Given the description of an element on the screen output the (x, y) to click on. 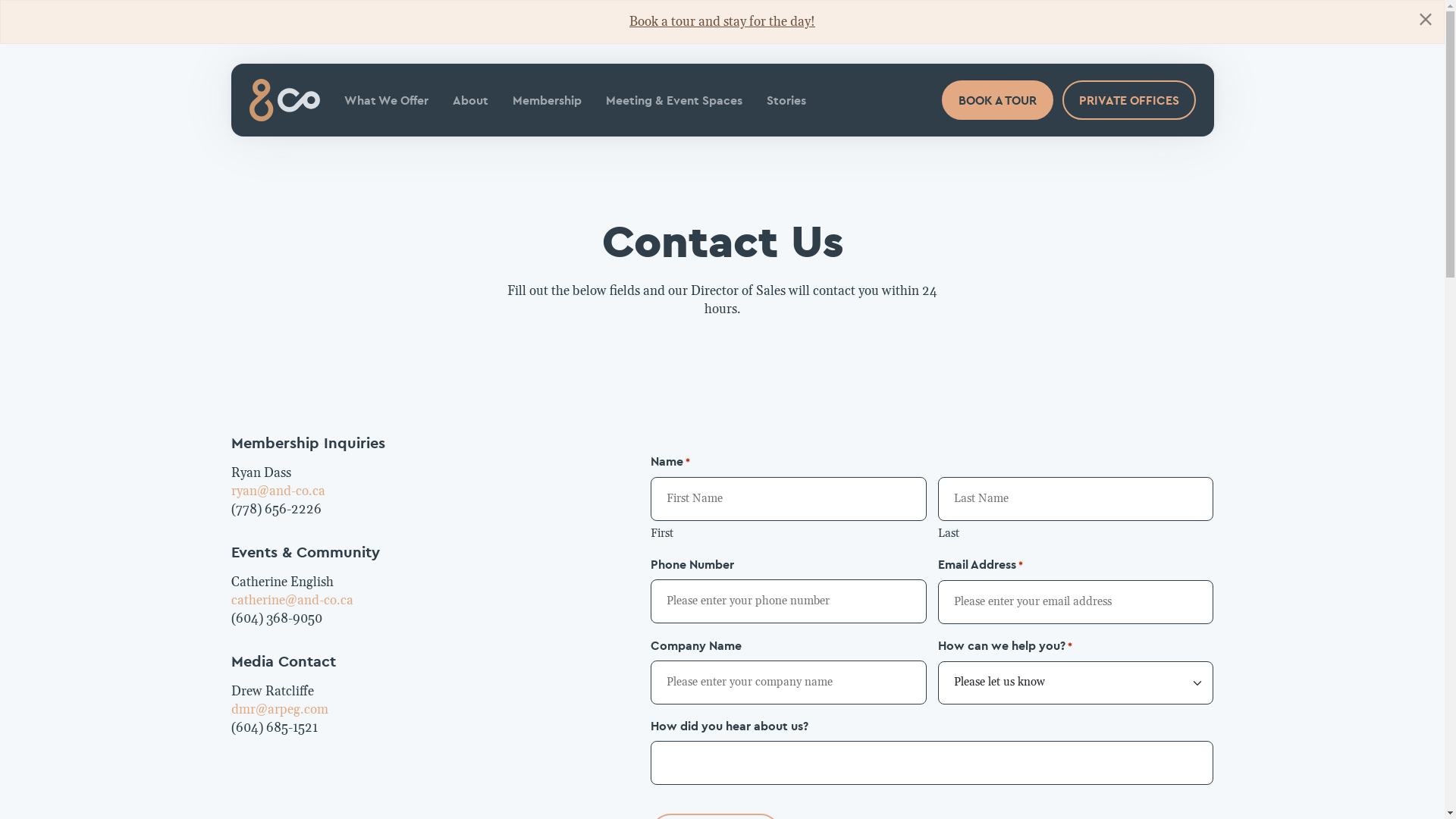
Stories Element type: text (786, 99)
About Element type: text (470, 99)
Book a tour and stay for the day! Element type: text (722, 21)
What We Offer Element type: text (386, 99)
ryan@and-co.ca Element type: text (277, 491)
Meeting & Event Spaces Element type: text (673, 99)
catherine@and-co.ca Element type: text (291, 600)
BOOK A TOUR Element type: text (997, 99)
PRIVATE OFFICES Element type: text (1128, 99)
Membership Element type: text (546, 99)
dmr@arpeg.com Element type: text (278, 709)
